Given the description of an element on the screen output the (x, y) to click on. 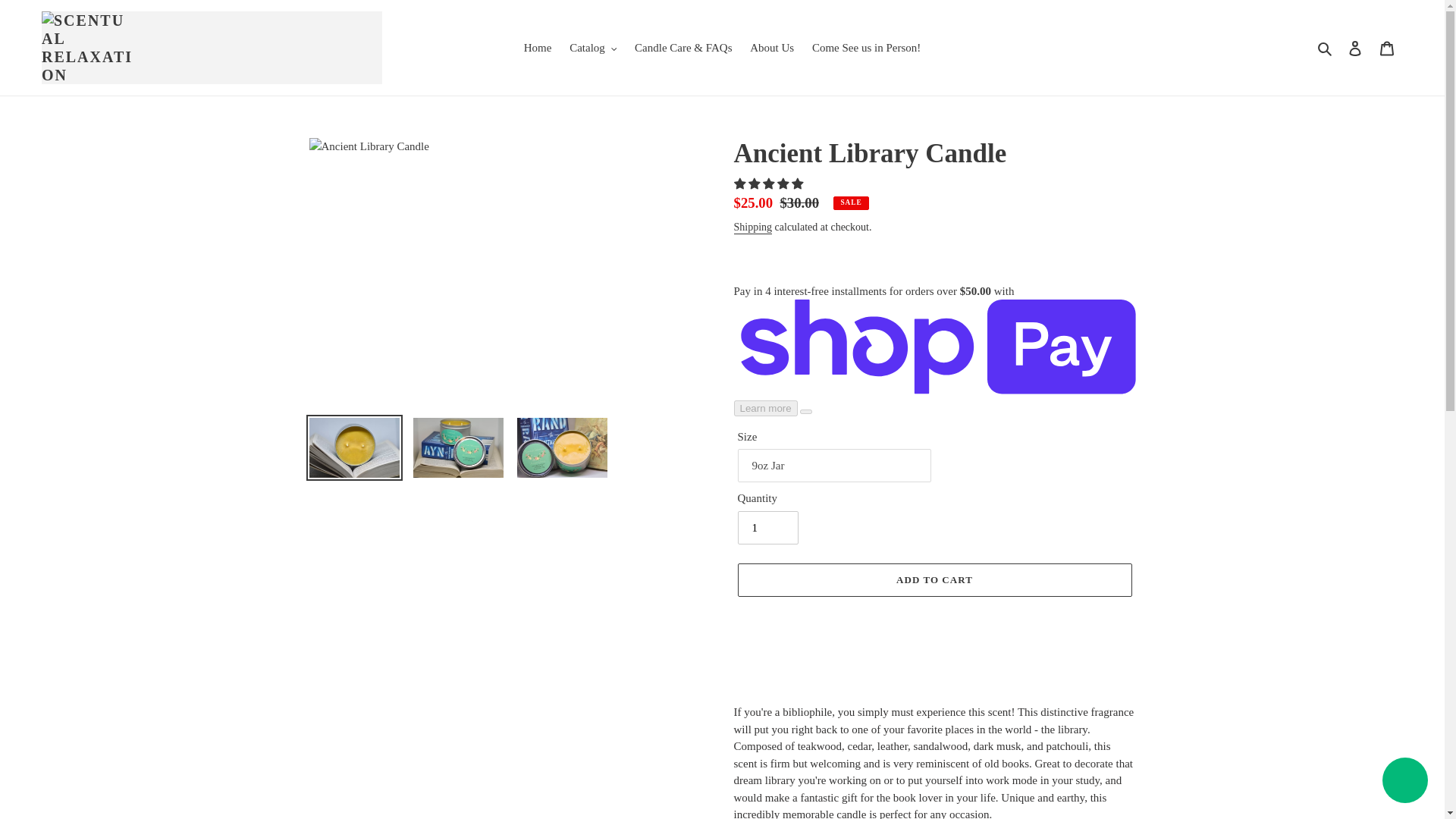
Catalog (593, 47)
Log in (1355, 47)
Come See us in Person! (866, 47)
Shopify online store chat (1404, 781)
Search (1326, 47)
Cart (1387, 47)
1 (766, 527)
Home (537, 47)
About Us (772, 47)
